Given the description of an element on the screen output the (x, y) to click on. 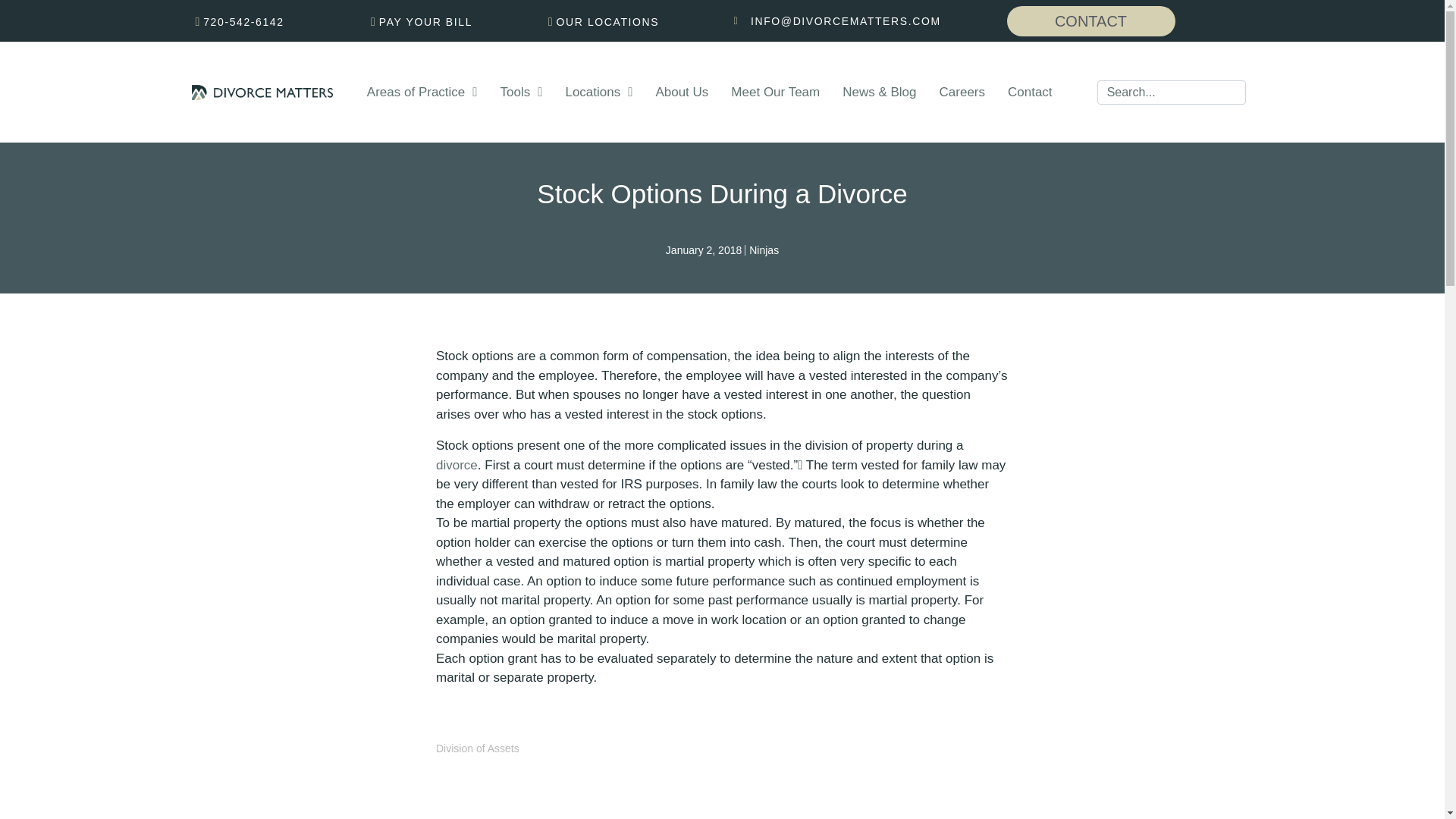
CONTACT (1090, 20)
OUR LOCATIONS (600, 21)
PAY YOUR BILL (418, 21)
Areas of Practice (422, 92)
Tools (521, 92)
720-542-6142 (236, 21)
